Given the description of an element on the screen output the (x, y) to click on. 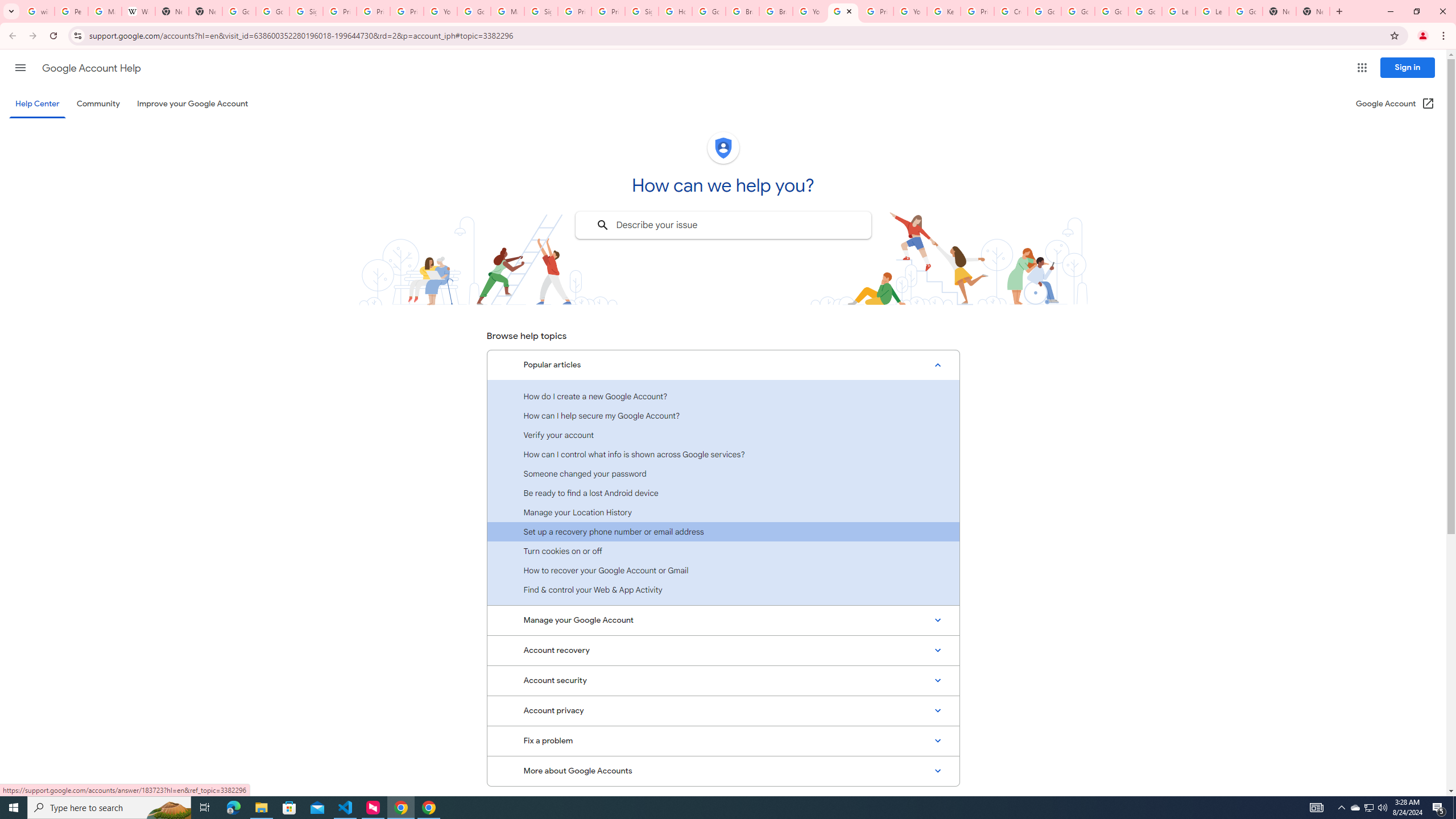
Google Account Help (1111, 11)
Main menu (20, 67)
Account recovery (722, 650)
Google Account Help (474, 11)
Google Drive: Sign-in (272, 11)
Google Account Help (91, 68)
Create your Google Account (1010, 11)
Community (97, 103)
